Given the description of an element on the screen output the (x, y) to click on. 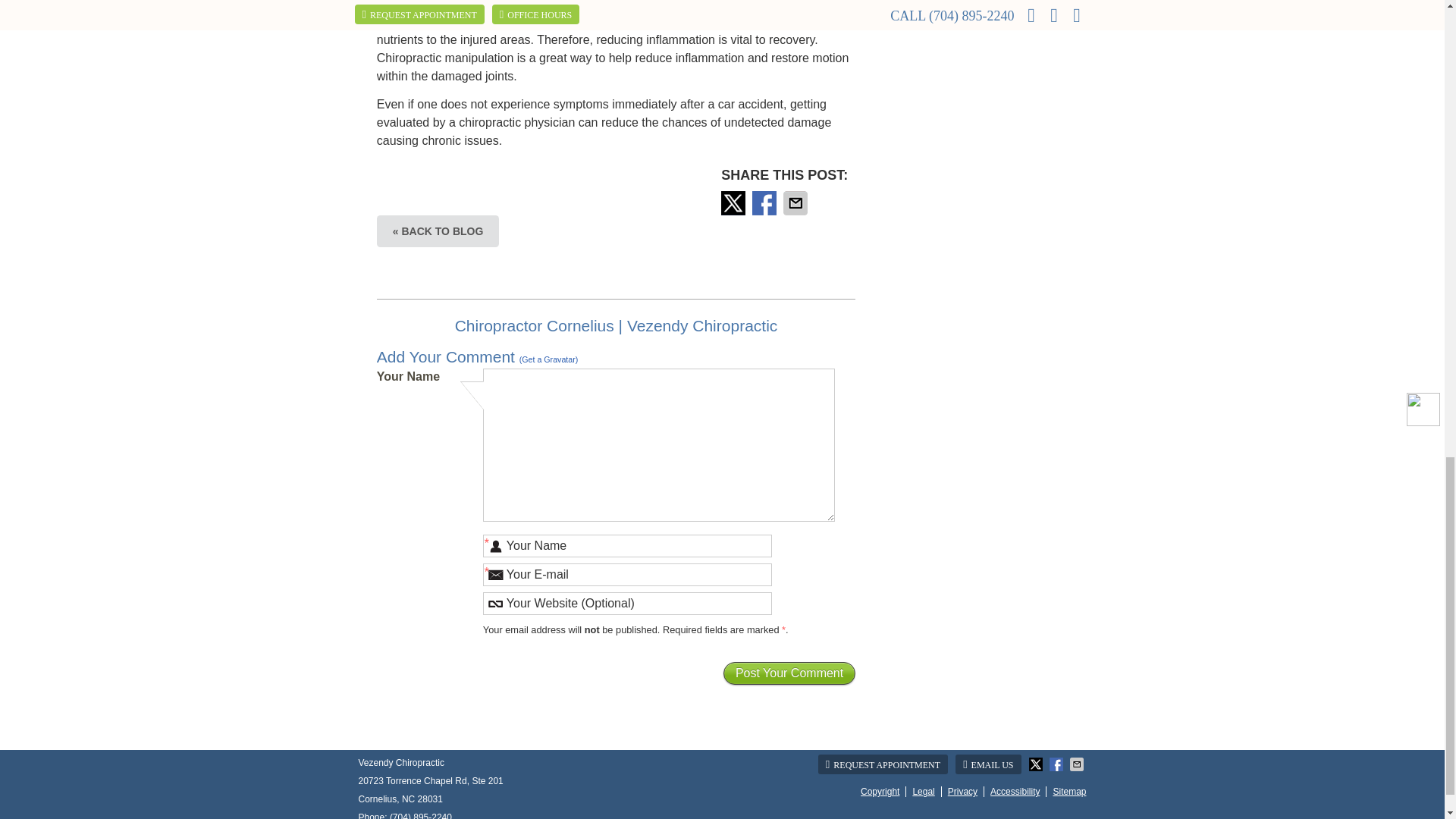
Your E-mail (627, 574)
Contact (987, 763)
Share on Twitter (734, 202)
Your E-mail (627, 574)
Footer Links (970, 791)
Your Name (627, 545)
Your Name (627, 545)
Share via Email (796, 202)
Post Your Comment (789, 672)
Share on Facebook (765, 202)
